Given the description of an element on the screen output the (x, y) to click on. 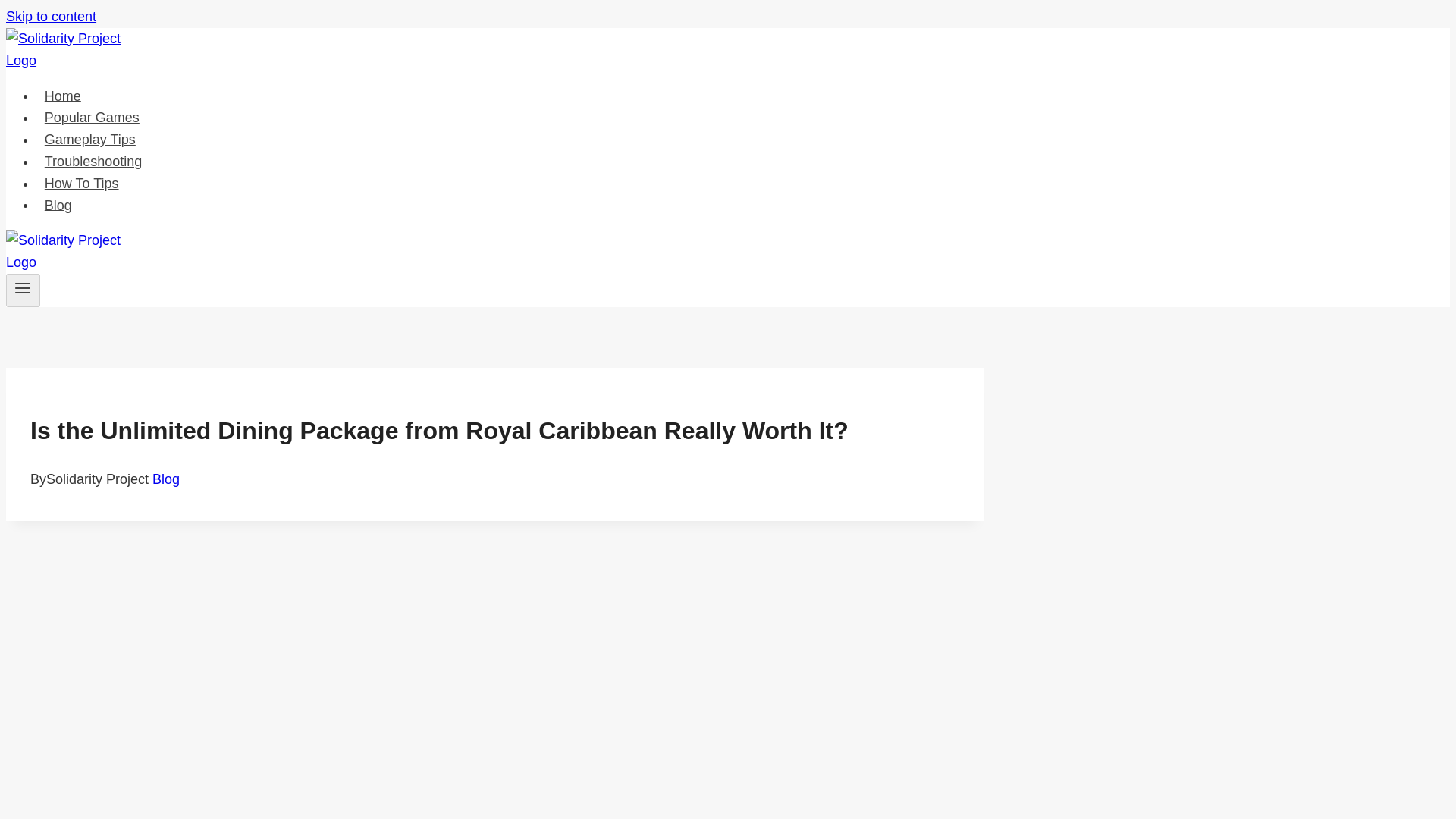
Skip to content (50, 16)
Troubleshooting (92, 161)
Popular Games (92, 117)
How To Tips (81, 183)
Skip to content (50, 16)
Blog (165, 478)
Toggle Menu (22, 290)
Home (62, 96)
Blog (58, 205)
Gameplay Tips (90, 139)
Toggle Menu (22, 288)
